Given the description of an element on the screen output the (x, y) to click on. 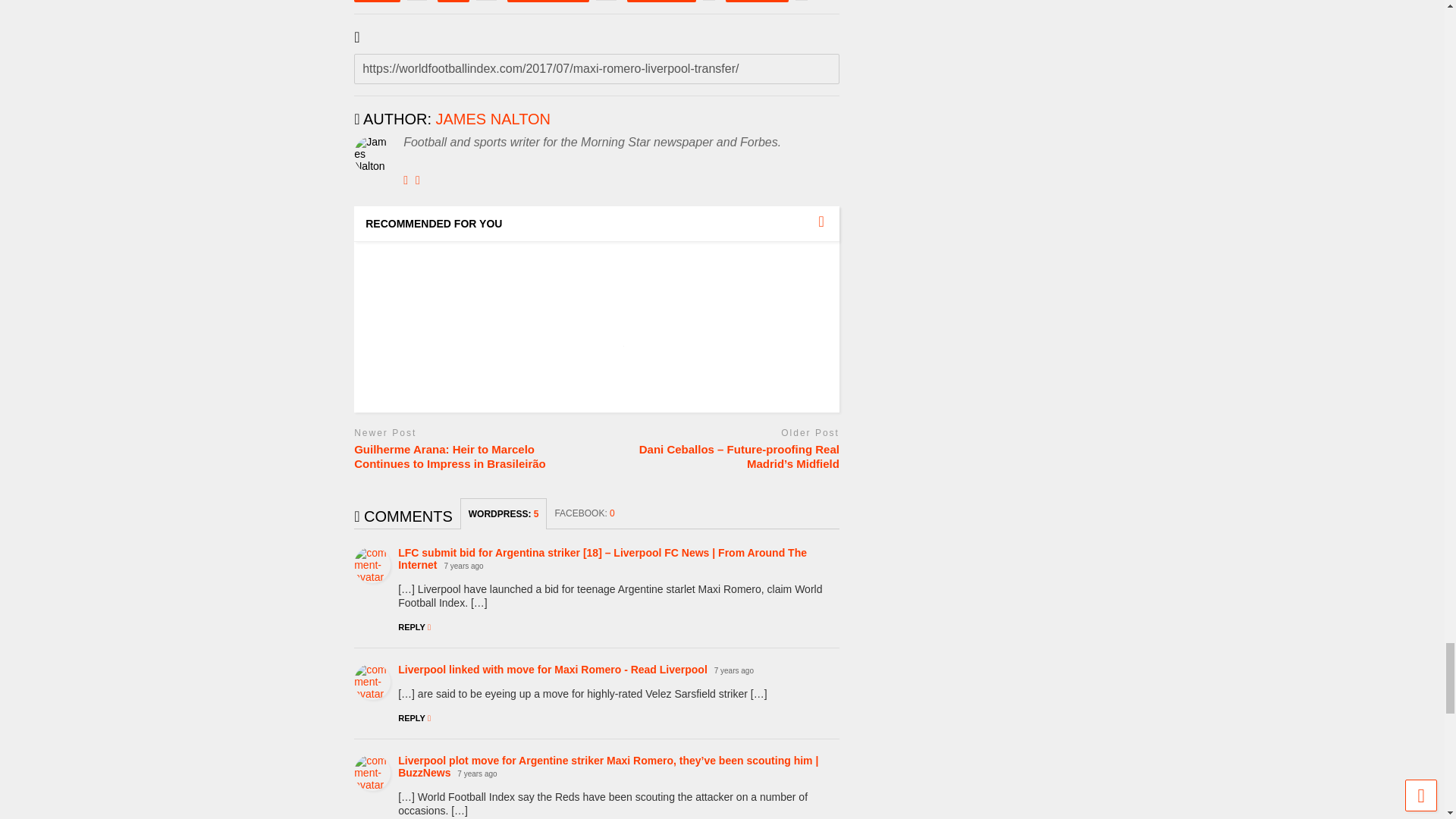
JAMES NALTON (493, 118)
author profile (670, 1)
